Given the description of an element on the screen output the (x, y) to click on. 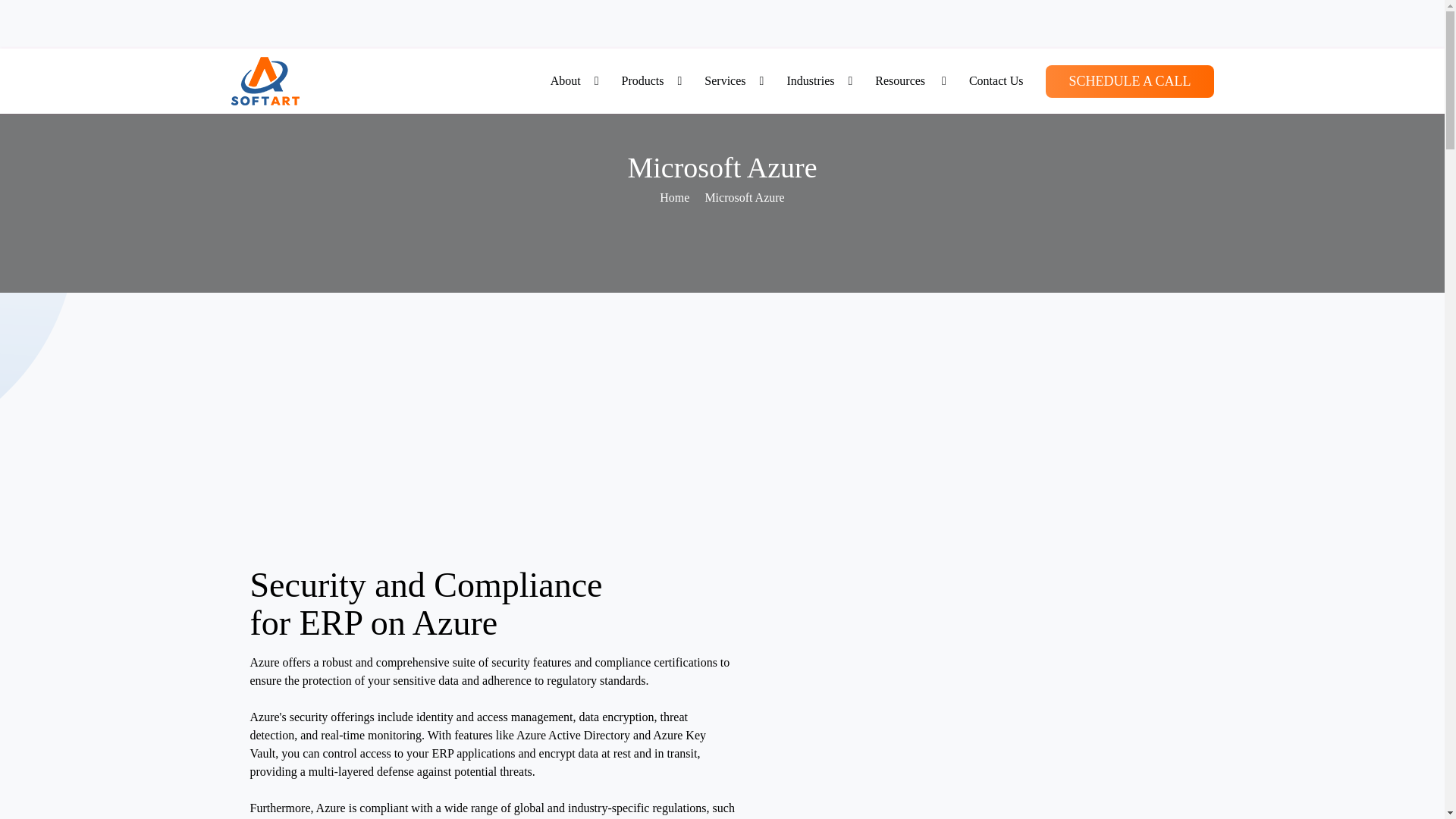
Resources (910, 80)
Industries (818, 80)
About (574, 80)
Services (733, 80)
Products (651, 80)
